Given the description of an element on the screen output the (x, y) to click on. 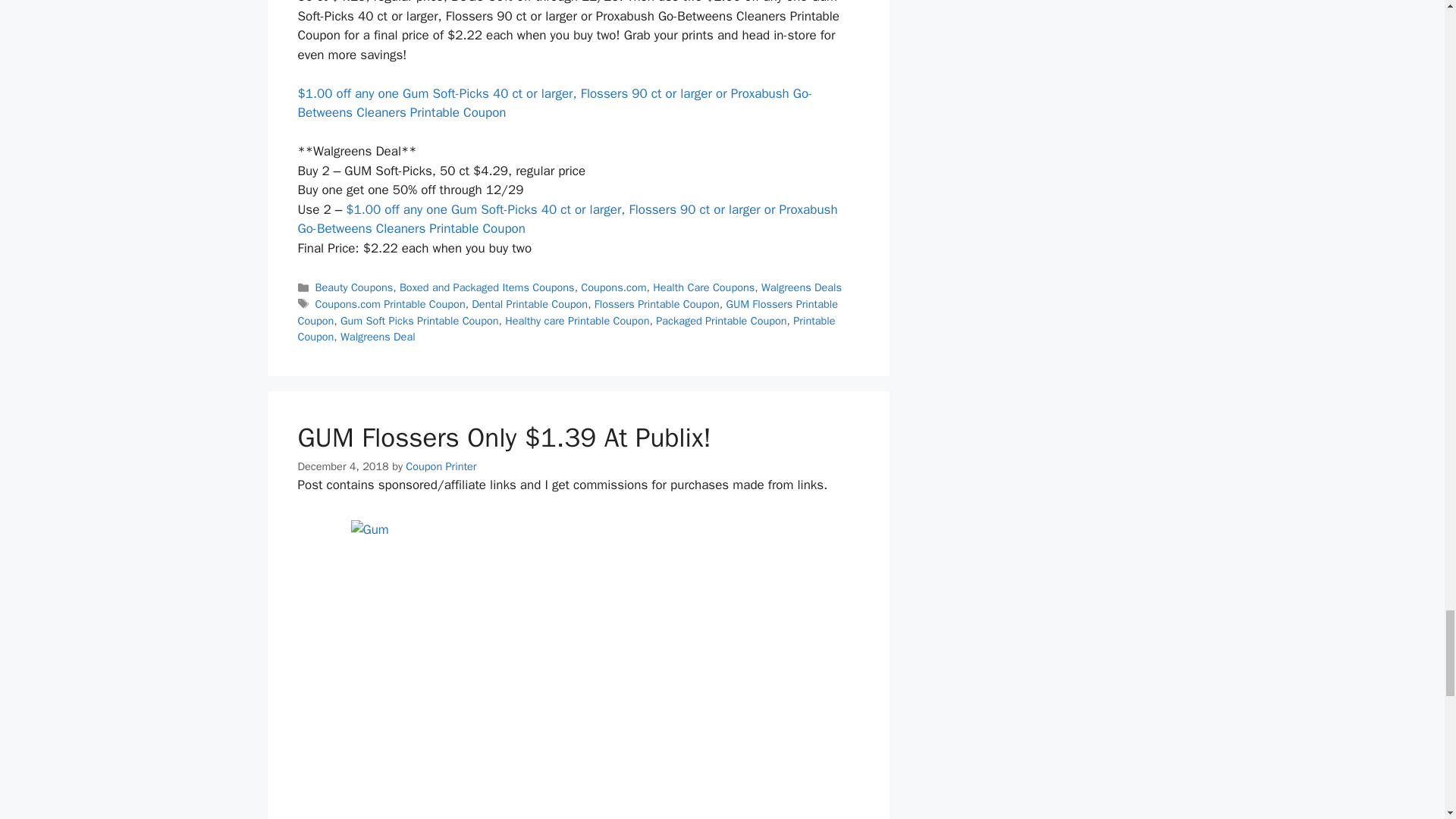
View all posts by Coupon Printer (441, 466)
